Given the description of an element on the screen output the (x, y) to click on. 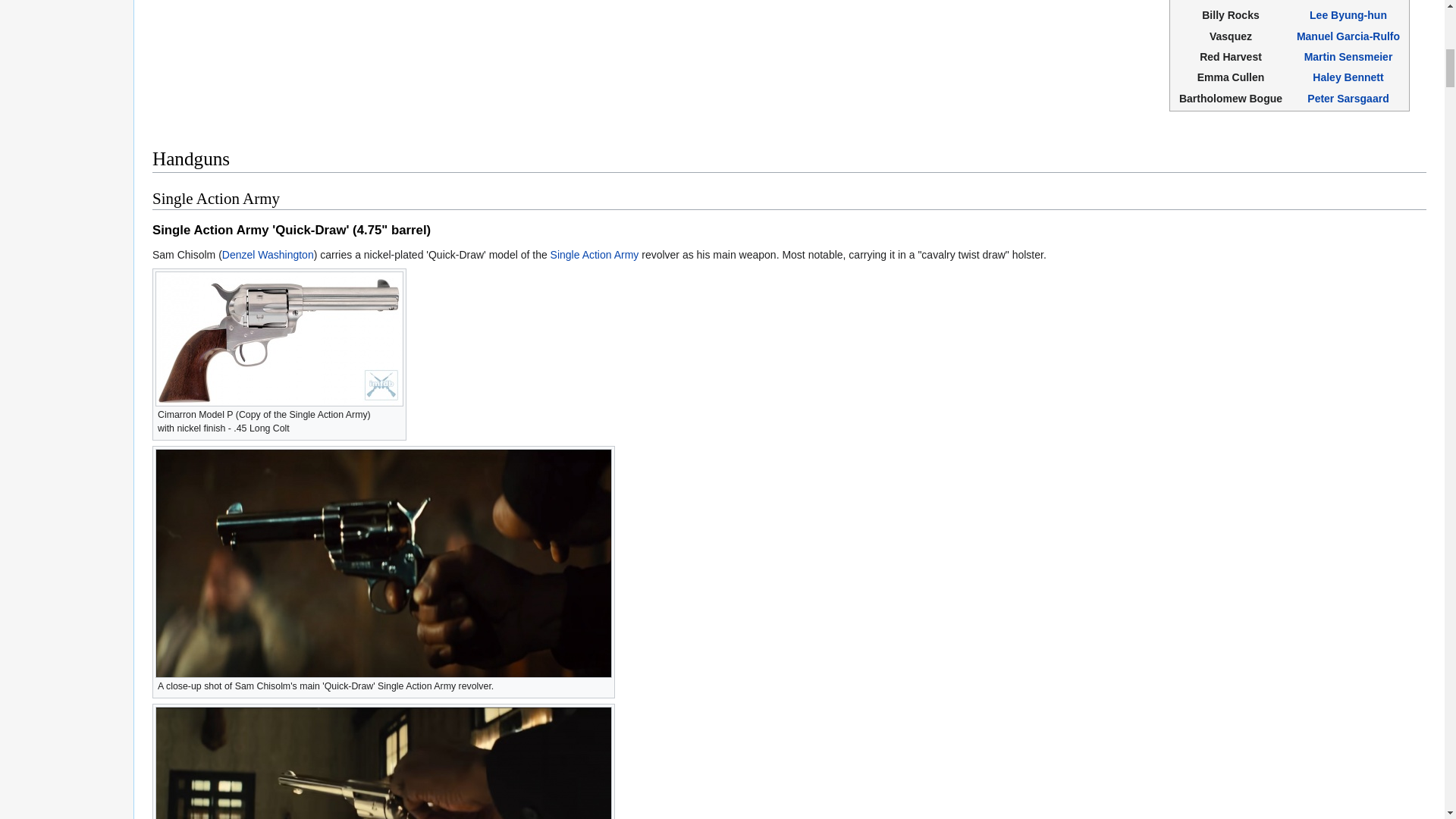
Peter Sarsgaard (1348, 98)
Martin Sensmeier (1348, 56)
Peter Sarsgaard (1348, 98)
Martin Sensmeier (1348, 56)
Lee Byung-hun (1347, 15)
Manuel Garcia-Rulfo (1348, 36)
Lee Byung-hun (1347, 15)
Haley Bennett (1348, 77)
